Given the description of an element on the screen output the (x, y) to click on. 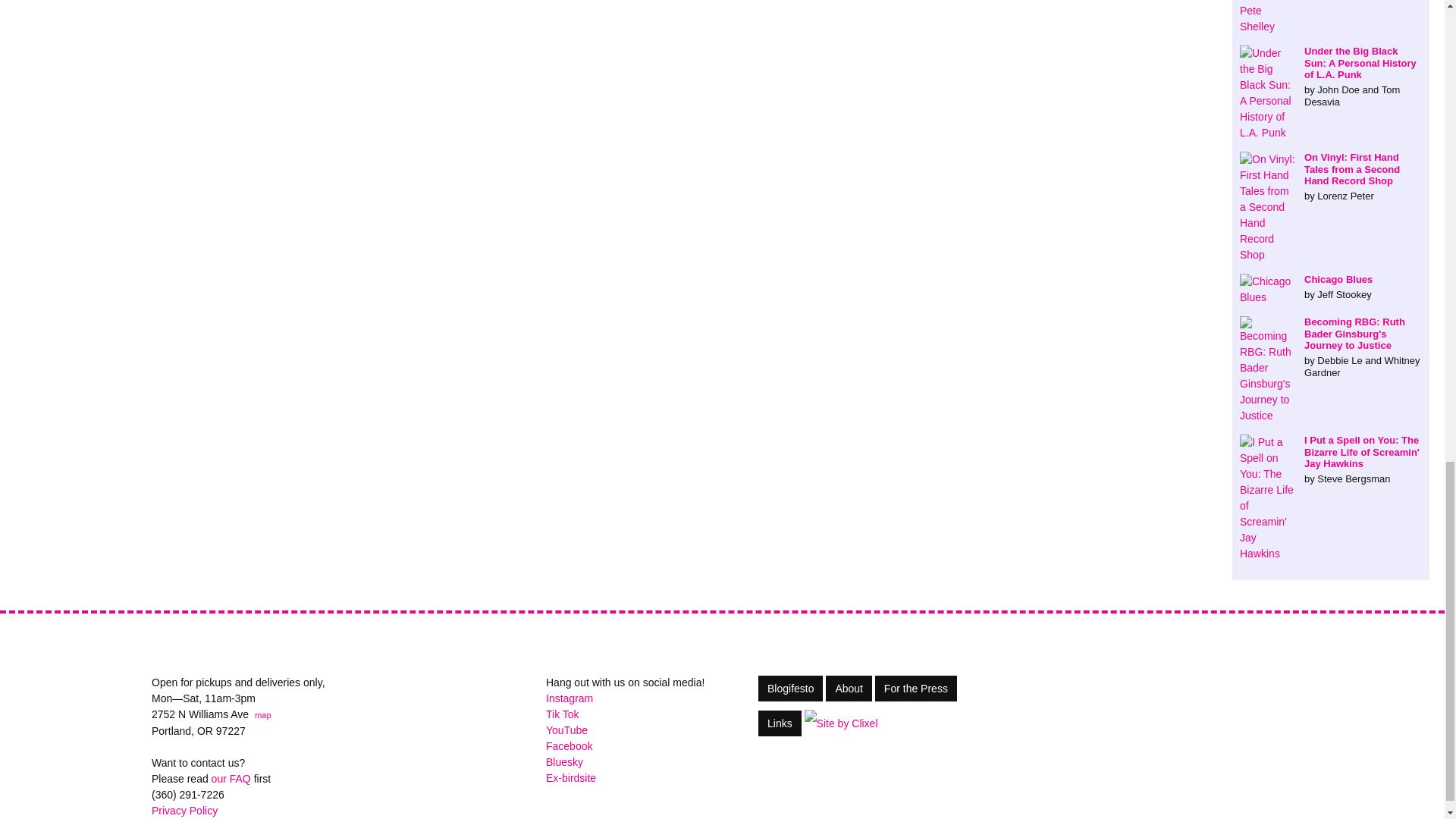
On Vinyl: First Hand Tales from a Second Hand Record Shop (1331, 176)
Under the Big Black Sun: A Personal History of L.A. Punk (1331, 76)
Becoming RBG: Ruth Bader Ginsburg's Journey to Justice (1331, 347)
Chicago Blues (1331, 286)
